Given the description of an element on the screen output the (x, y) to click on. 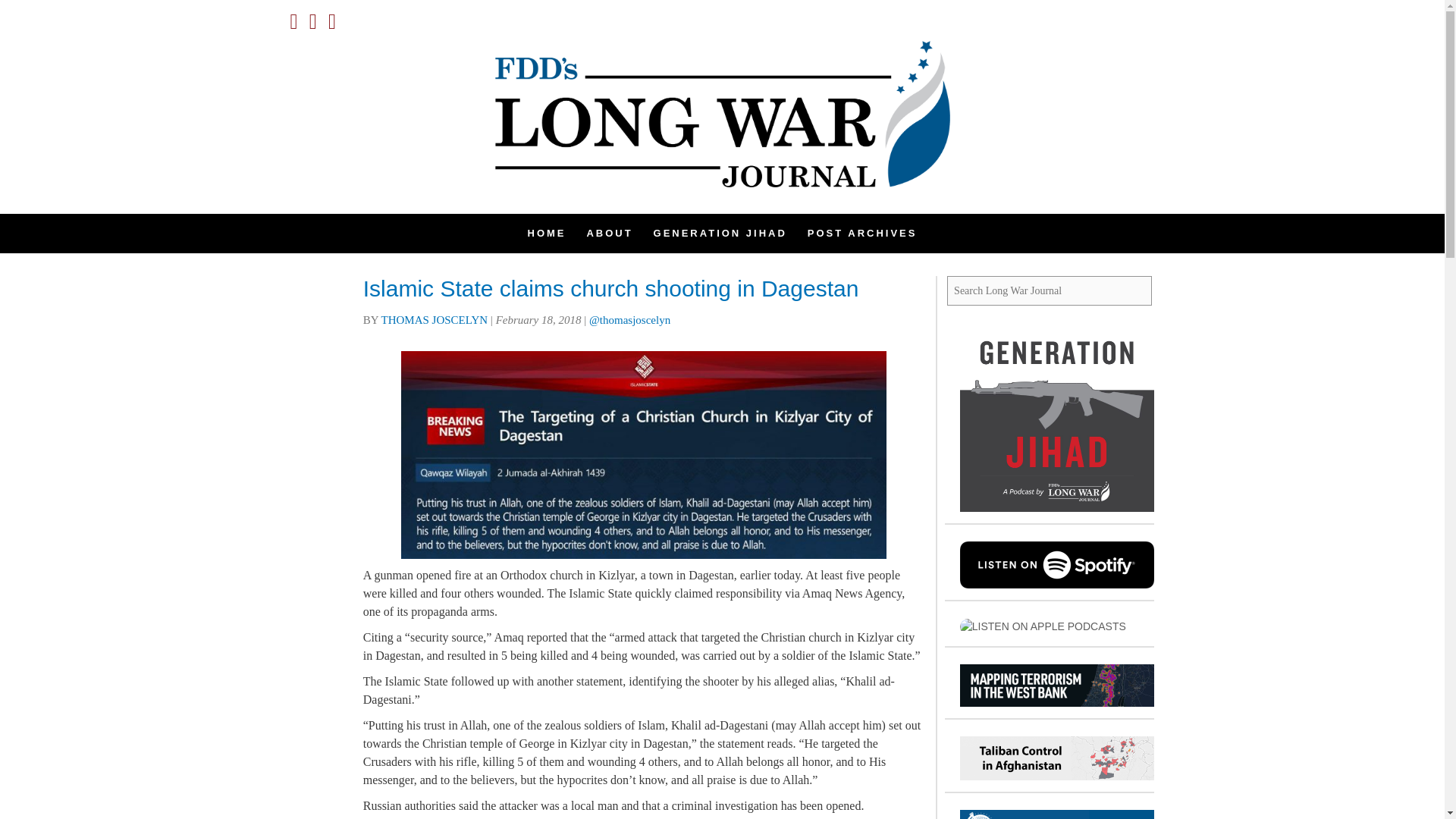
POST ARCHIVES (862, 233)
THOMAS JOSCELYN (433, 319)
GENERATION JIHAD (720, 233)
HOME (546, 233)
Islamic State claims church shooting in Dagestan (610, 288)
Posts by Thomas Joscelyn (1049, 547)
ABOUT (433, 319)
